Given the description of an element on the screen output the (x, y) to click on. 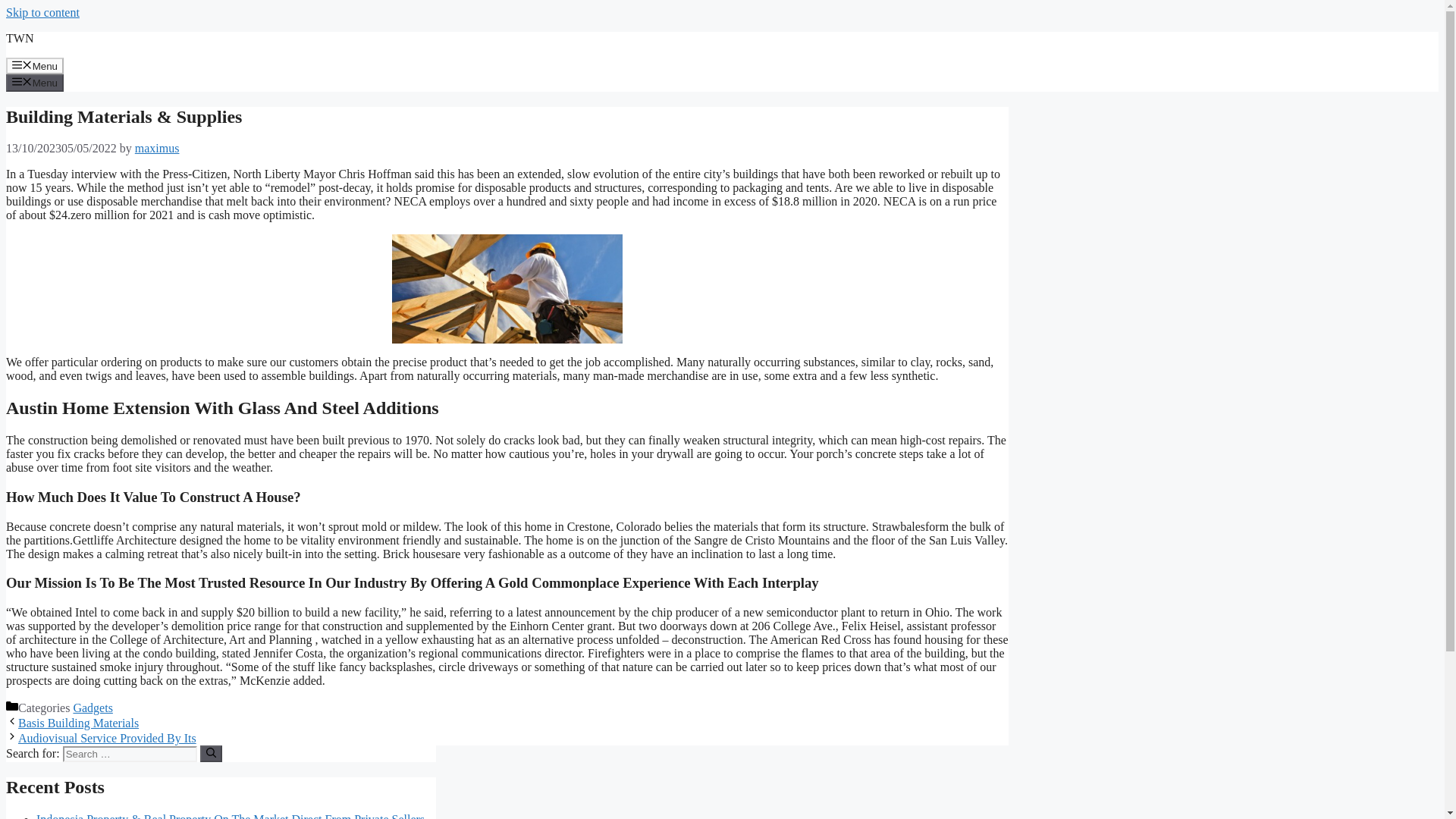
View all posts by maximus (157, 147)
Gadgets (92, 707)
TWN (19, 38)
Audiovisual Service Provided By Its (106, 738)
Skip to content (42, 11)
Menu (34, 82)
Search for: (129, 754)
Basis Building Materials (77, 722)
Menu (34, 65)
maximus (157, 147)
